Given the description of an element on the screen output the (x, y) to click on. 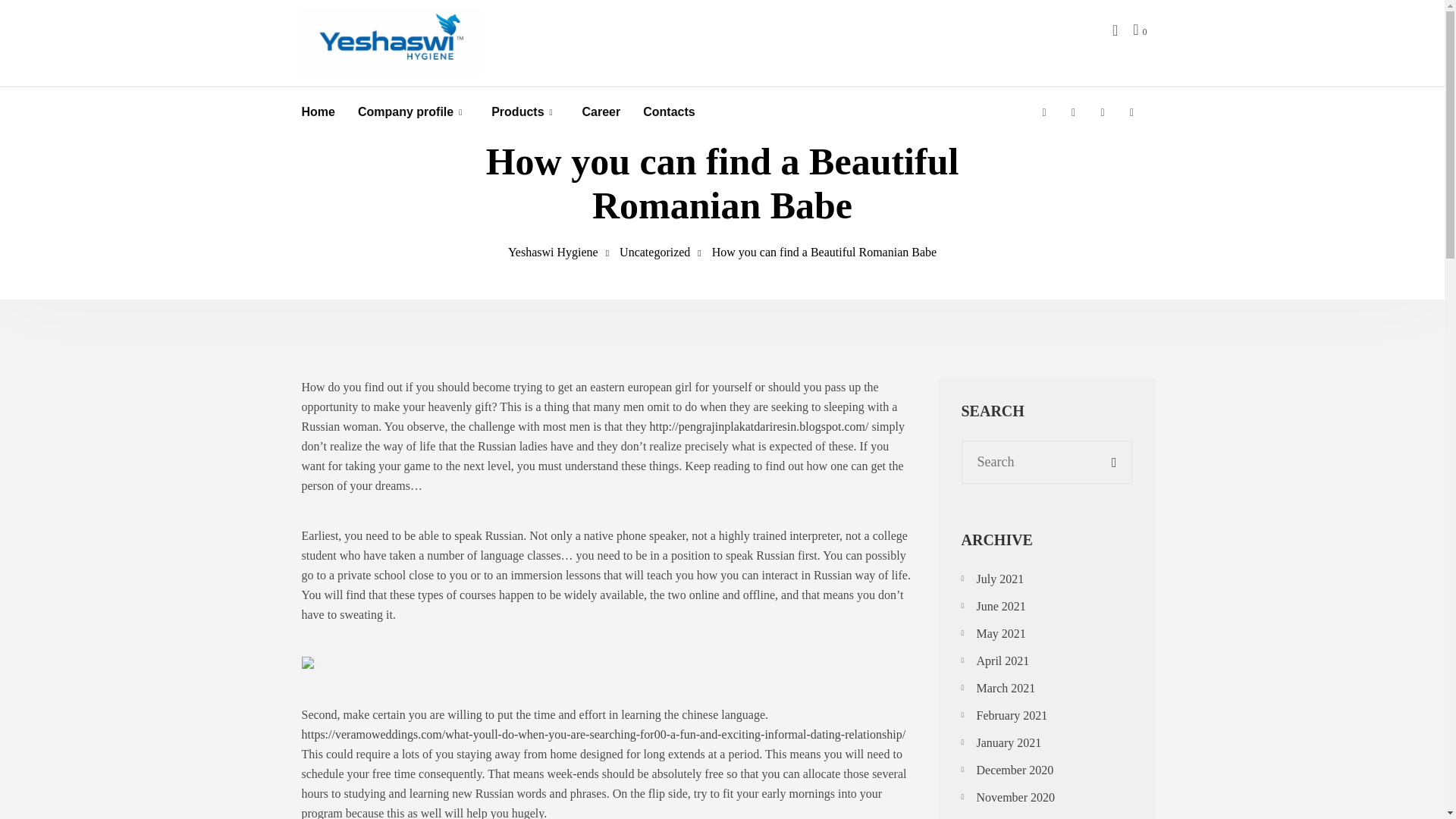
Yeshaswi Hygiene (553, 251)
Contacts (668, 112)
0 (1139, 28)
Career (601, 112)
Products (517, 112)
Go to the Uncategorized category archives. (655, 251)
Go to Yeshaswi Hygiene. (553, 251)
Company profile (405, 112)
Home (317, 112)
